Given the description of an element on the screen output the (x, y) to click on. 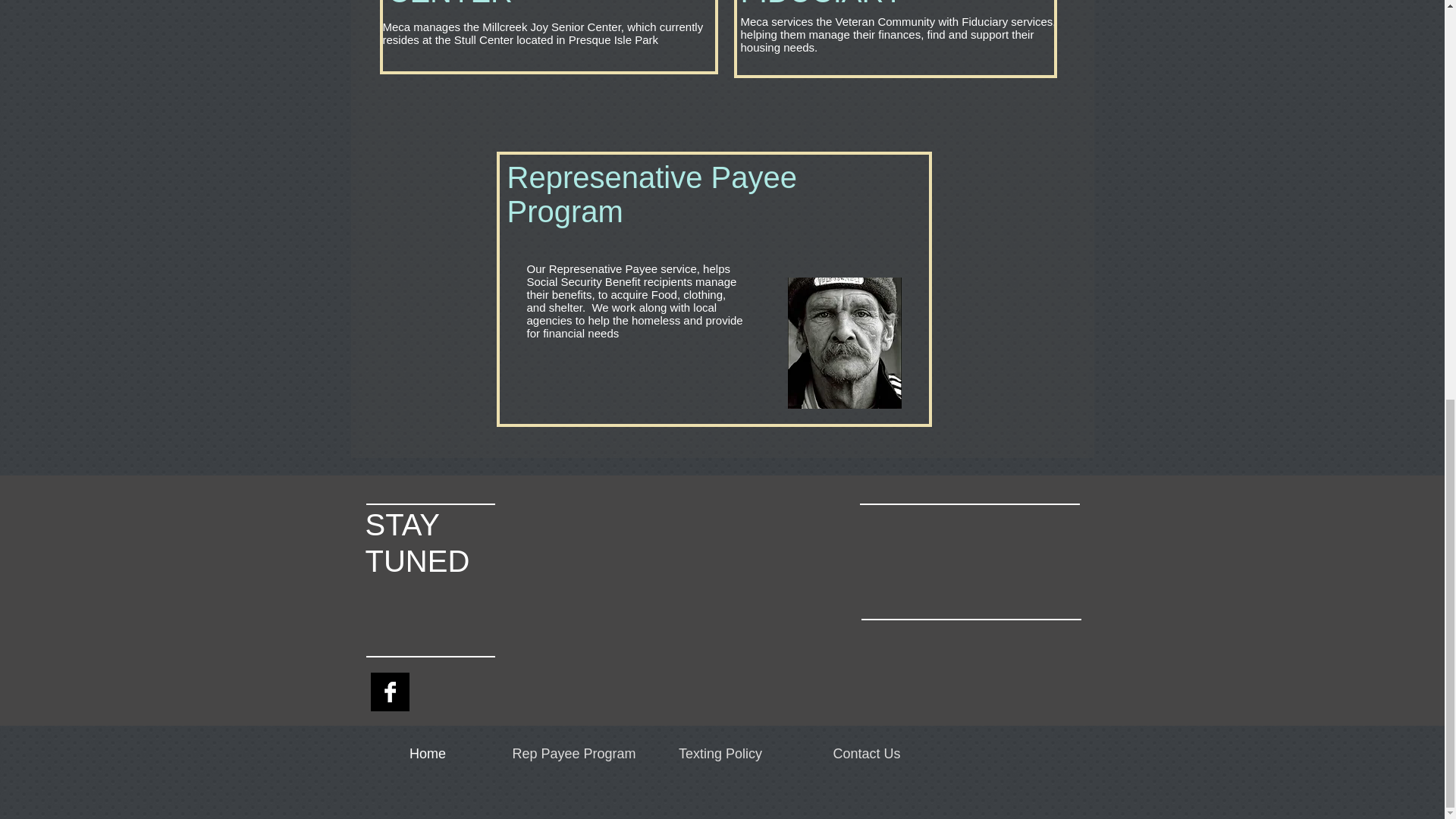
Rep Payee Program (573, 753)
Contact Us (866, 753)
Texting Policy (720, 753)
Home (427, 753)
